Given the description of an element on the screen output the (x, y) to click on. 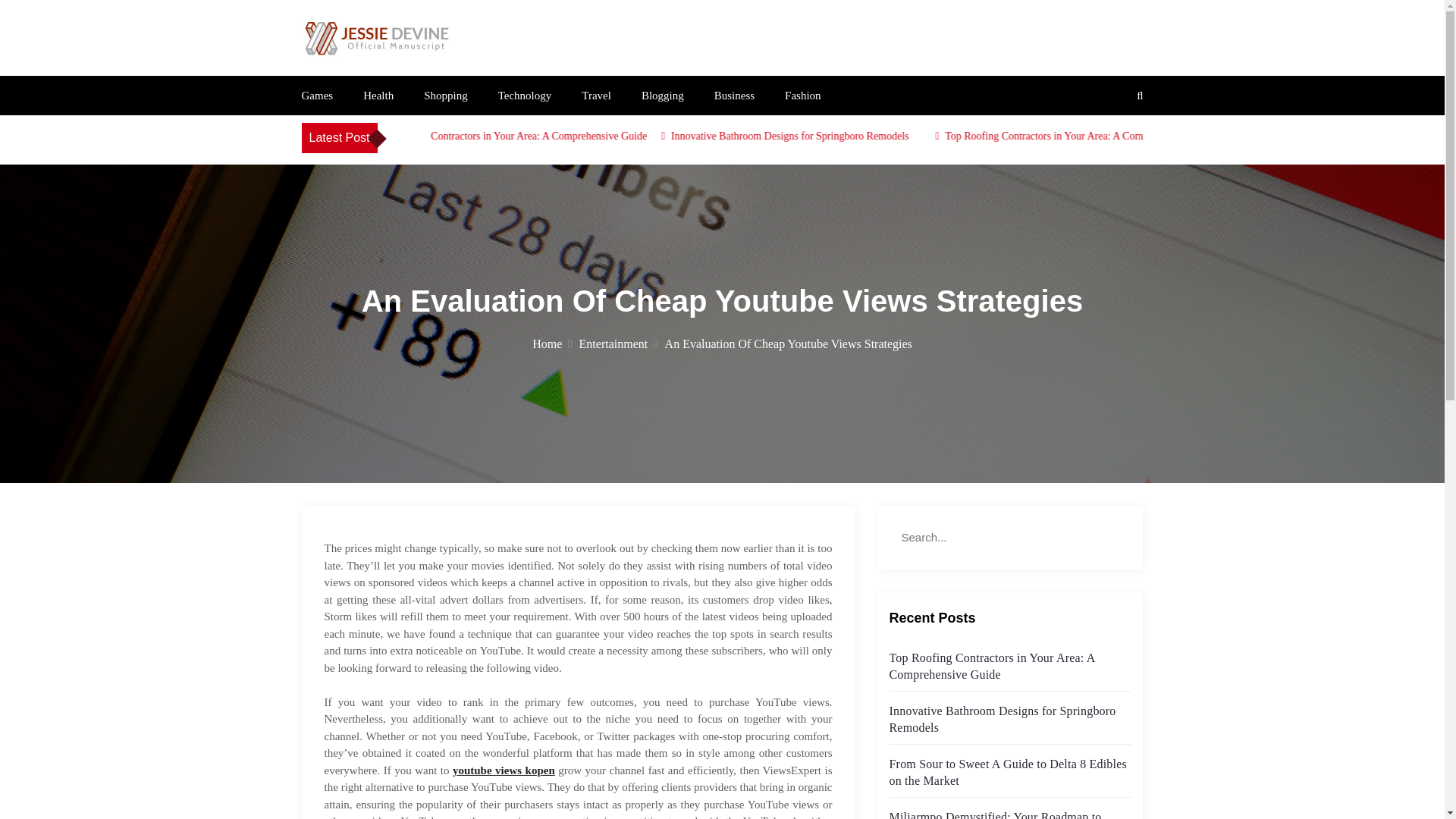
Fashion (802, 95)
Innovative Bathroom Designs for Springboro Remodels (855, 135)
Miliarmpo Demystified: Your Roadmap to Casino Victory (994, 814)
Business (734, 95)
Top Roofing Contractors in Your Area: A Comprehensive Guide (576, 135)
Home (552, 343)
Travel (595, 95)
Jessie Devine (376, 73)
Health (377, 95)
Blogging (663, 95)
